Given the description of an element on the screen output the (x, y) to click on. 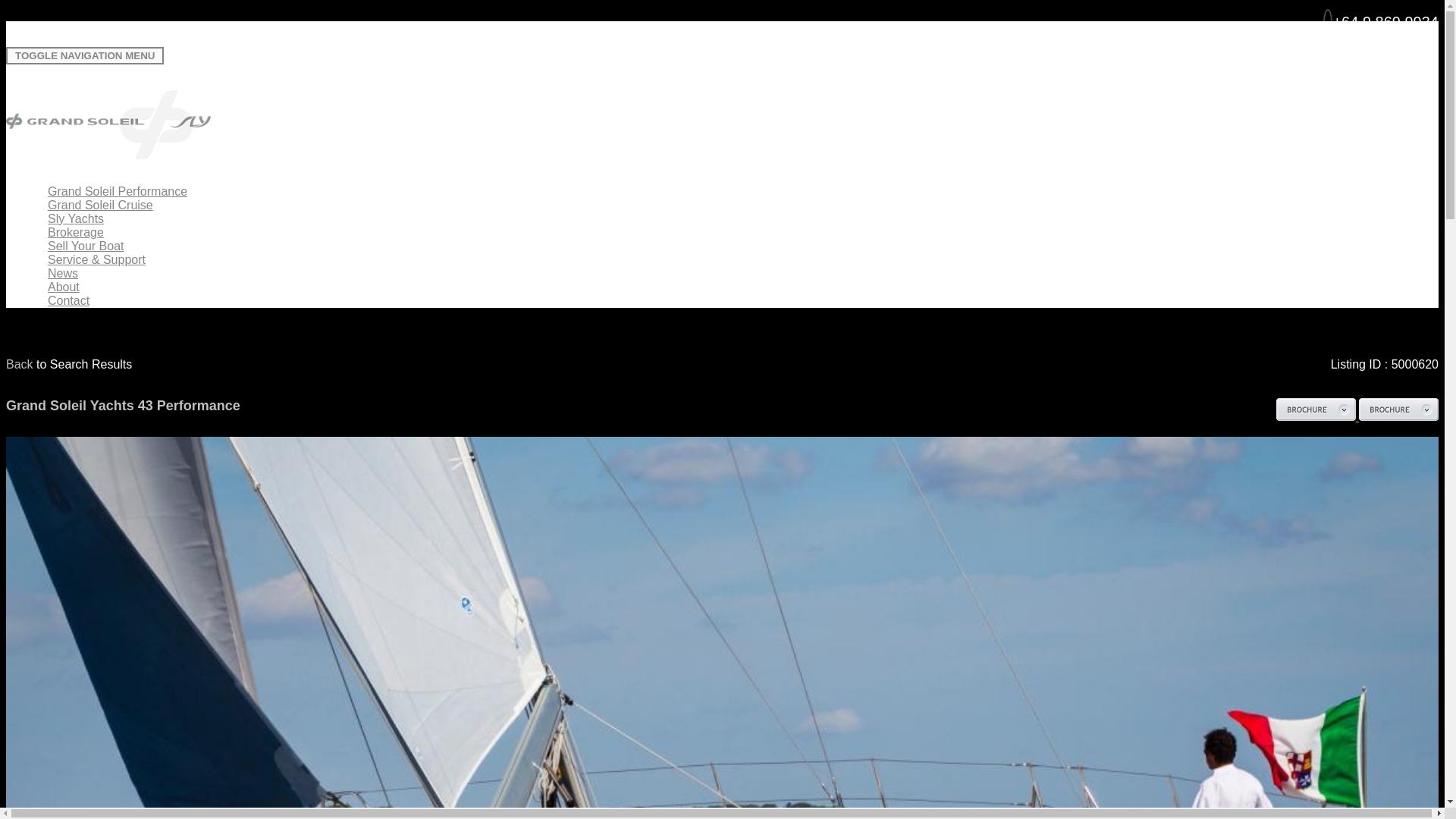
Sly Yachts (75, 218)
TOGGLE NAVIGATION MENU (84, 55)
Brokerage (75, 231)
Grand Soleil Performance (117, 190)
Sell Your Boat (85, 245)
Grand Soleil Cruise (100, 204)
Back (19, 364)
